Given the description of an element on the screen output the (x, y) to click on. 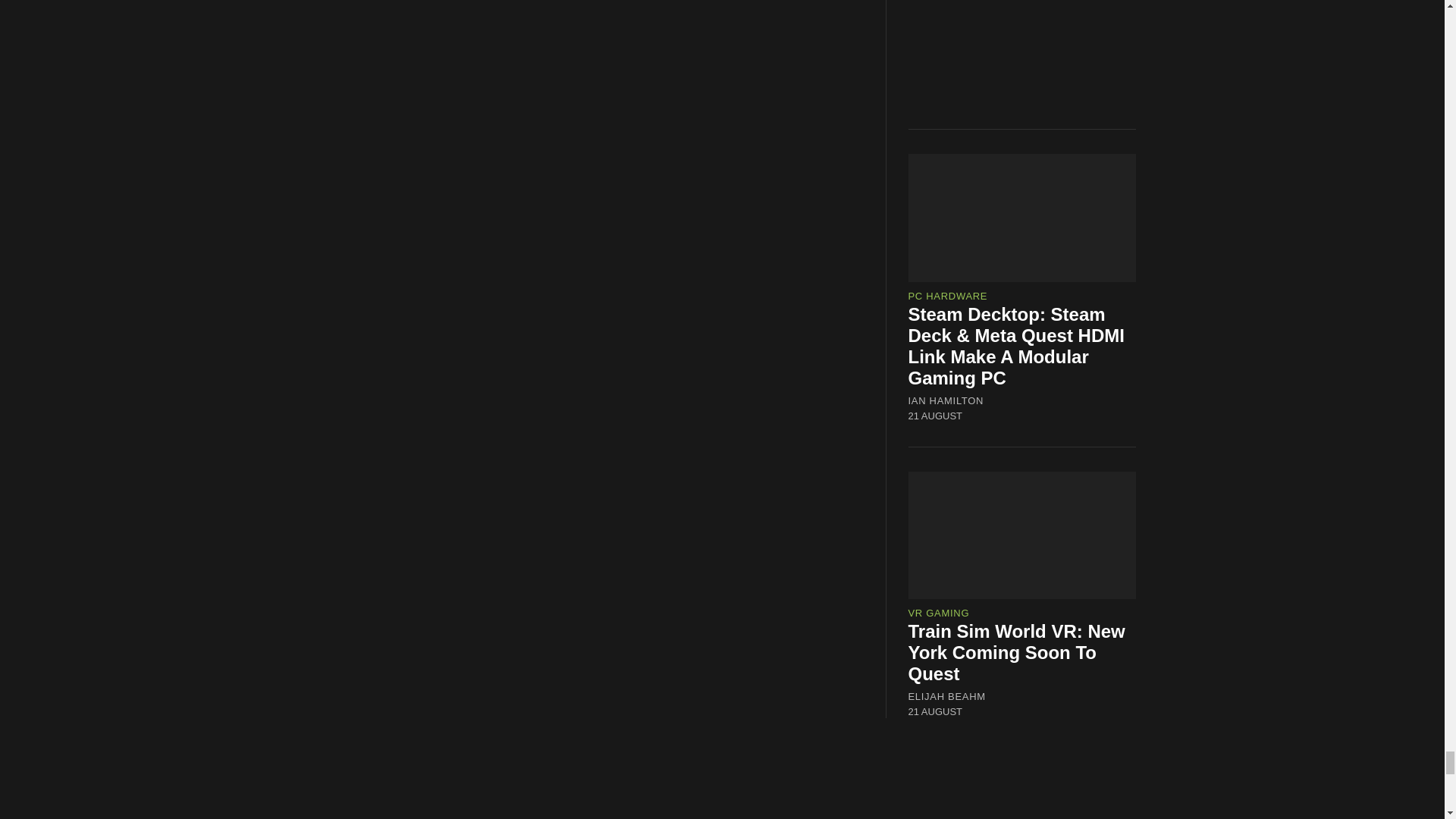
VR GAMING (938, 613)
IAN HAMILTON (946, 399)
Train Sim World VR: New York Coming Soon To Quest (1016, 651)
PC HARDWARE (948, 295)
ELIJAH BEAHM (946, 696)
